Given the description of an element on the screen output the (x, y) to click on. 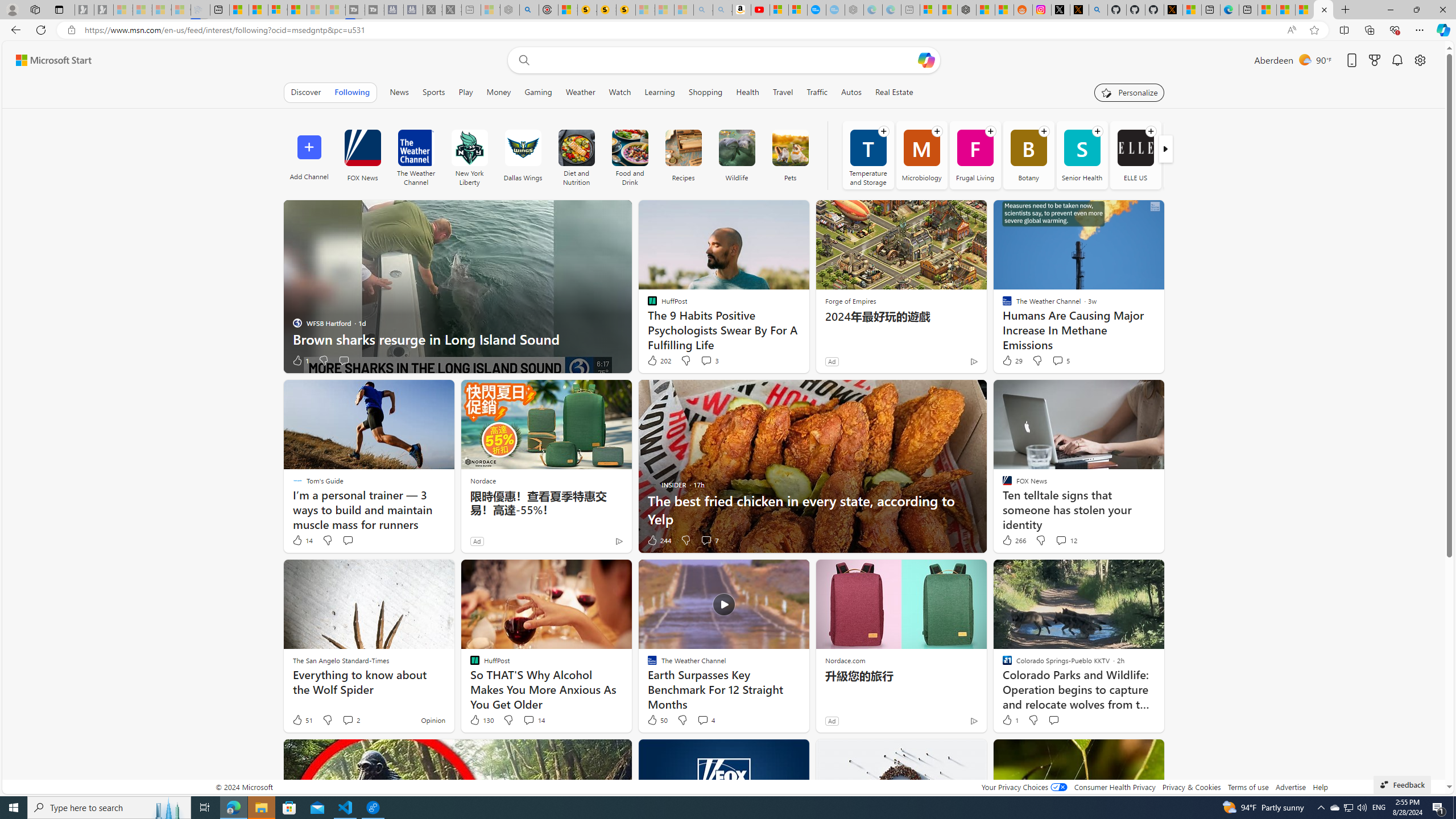
14 Like (301, 539)
Gaming (537, 92)
51 Like (301, 719)
amazon - Search - Sleeping (702, 9)
Help (1320, 786)
Shopping (705, 92)
New tab - Sleeping (910, 9)
Money (498, 92)
Privacy & Cookies (1191, 786)
Forge of Empires (850, 300)
Sports (434, 92)
